Given the description of an element on the screen output the (x, y) to click on. 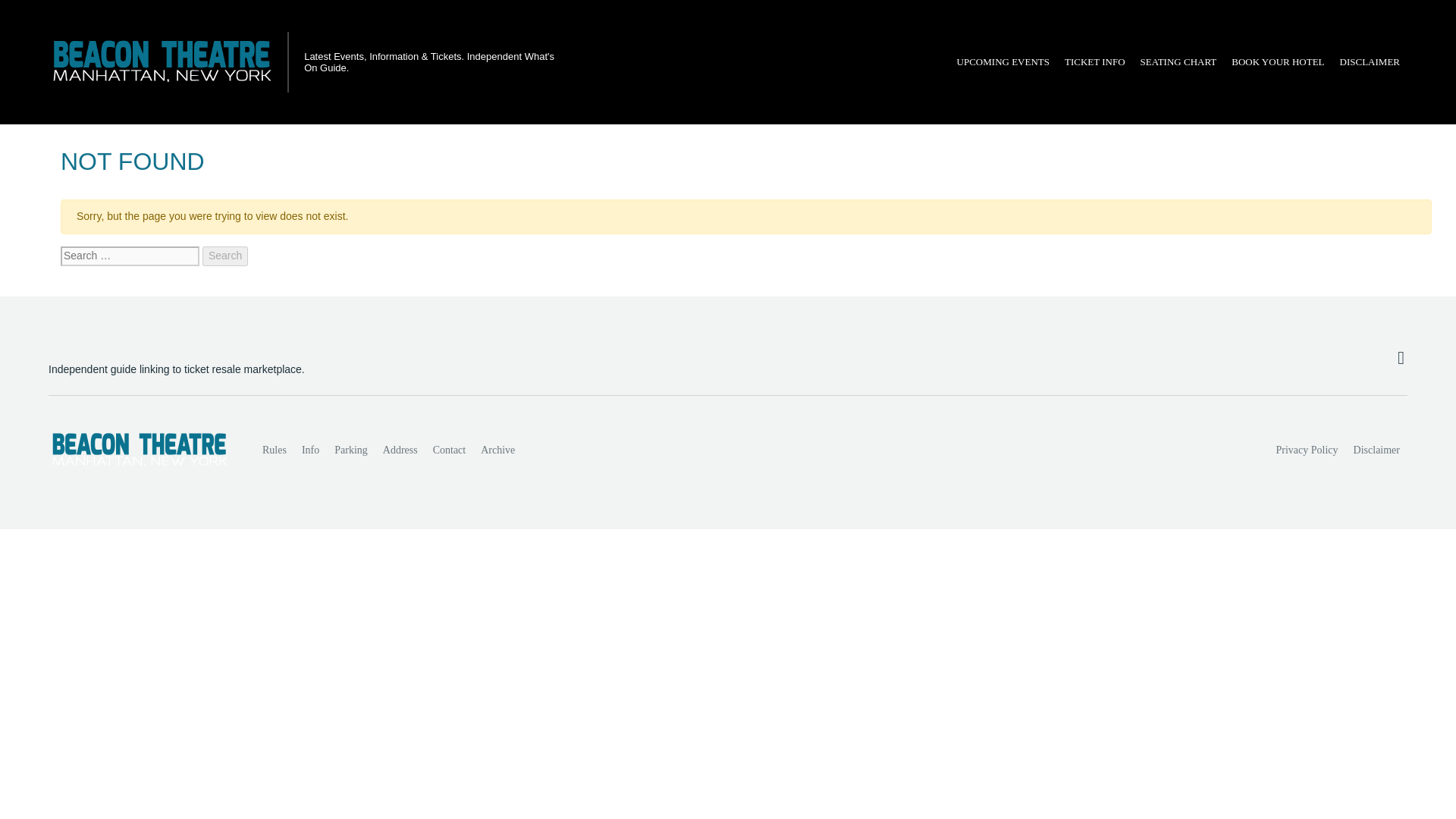
Search (224, 256)
Privacy Policy (1306, 450)
DISCLAIMER (1369, 61)
Info (310, 450)
BOOK YOUR HOTEL (1278, 61)
Rules (274, 450)
Search (224, 256)
Parking (350, 450)
SEATING CHART (1178, 61)
Disclaimer (1376, 450)
Search (224, 256)
TICKET INFO (1094, 61)
Archive (497, 450)
UPCOMING EVENTS (1003, 61)
Contact (449, 450)
